Given the description of an element on the screen output the (x, y) to click on. 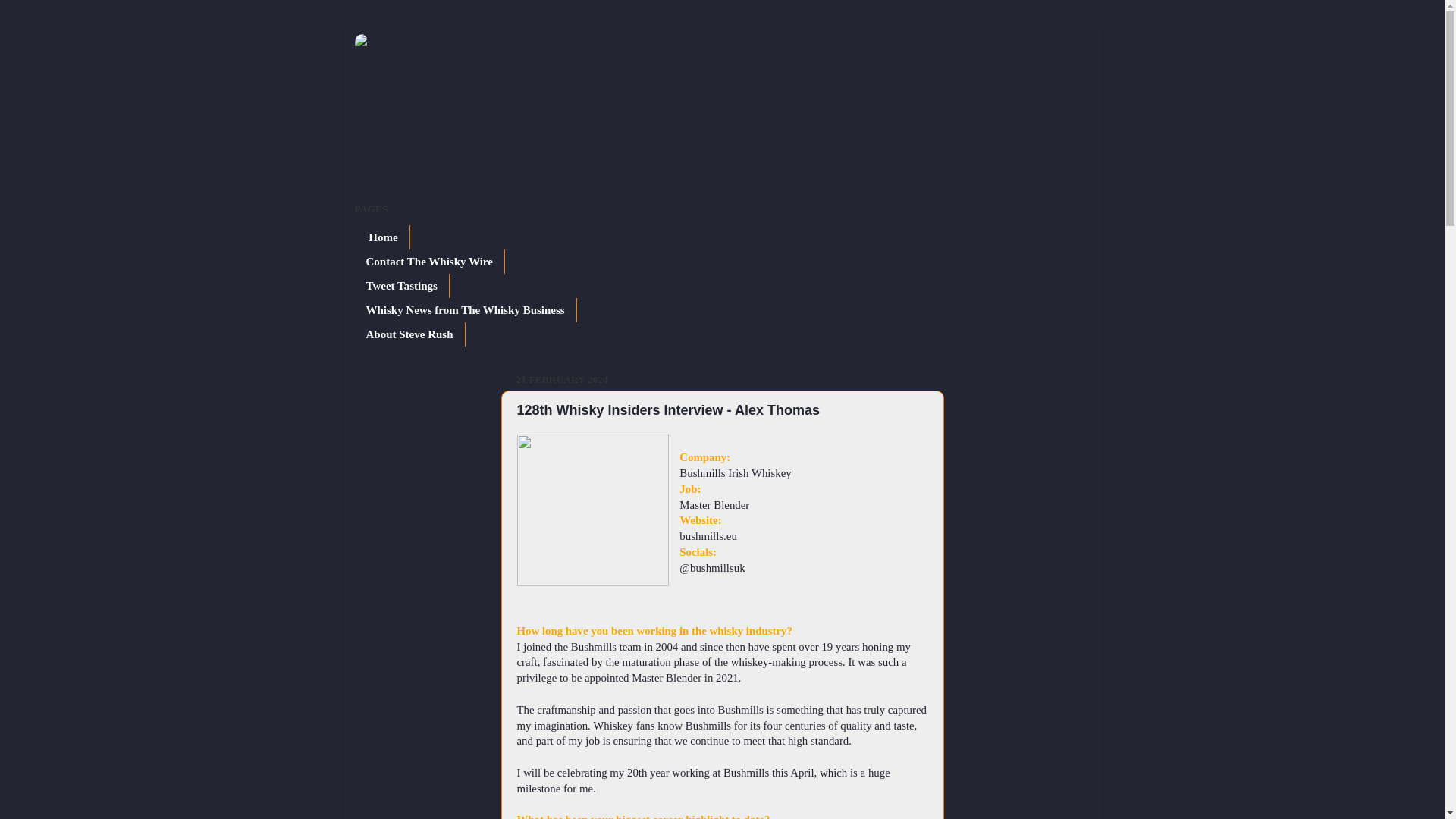
Contact The Whisky Wire (430, 261)
Home (382, 237)
bushmills.eu (707, 535)
Whisky News from The Whisky Business (465, 310)
About Steve Rush (410, 334)
Tweet Tastings (402, 285)
